Given the description of an element on the screen output the (x, y) to click on. 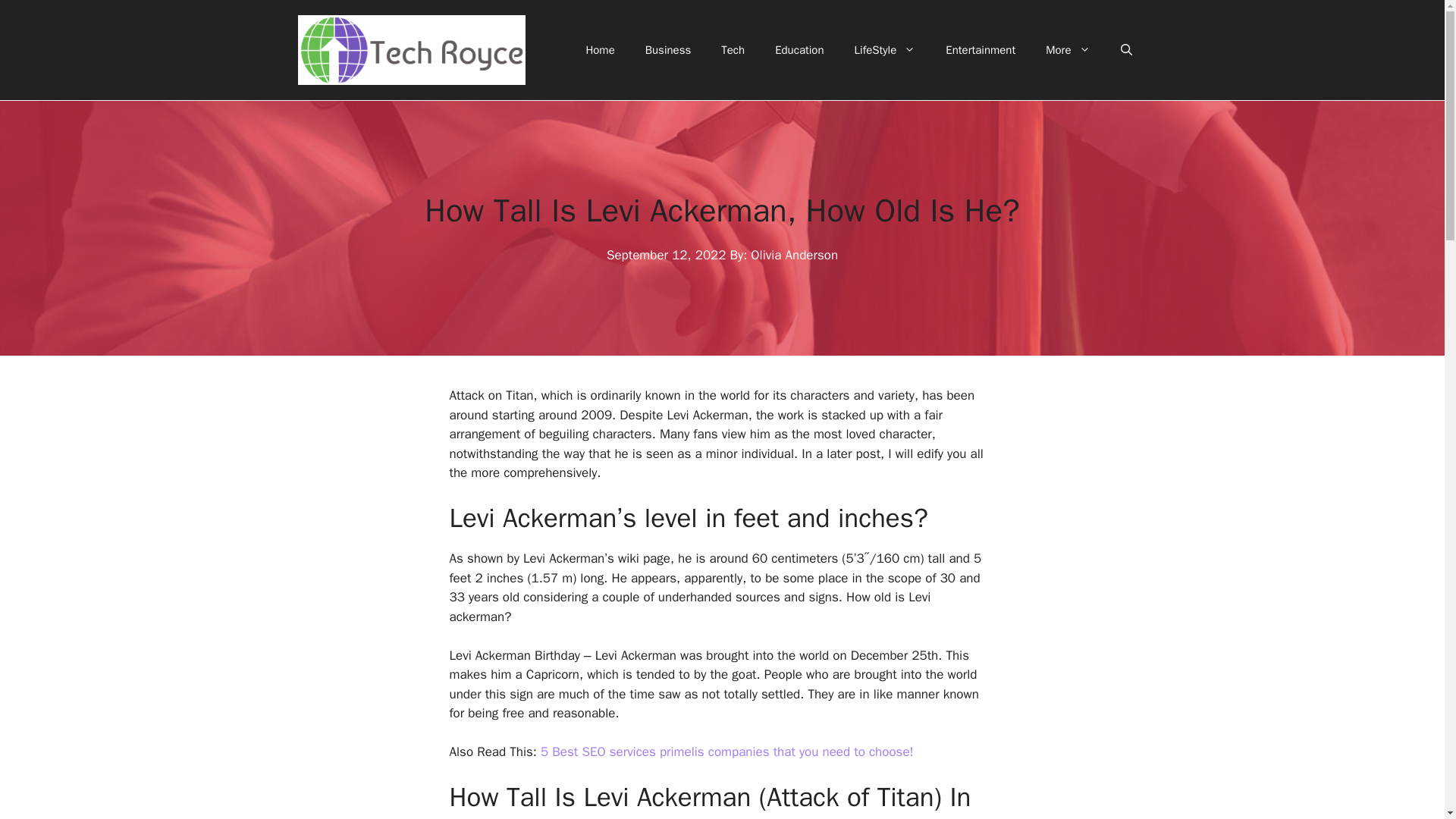
Tech (733, 49)
More (1067, 49)
Home (599, 49)
LifeStyle (885, 49)
Education (799, 49)
Business (668, 49)
Entertainment (980, 49)
